Given the description of an element on the screen output the (x, y) to click on. 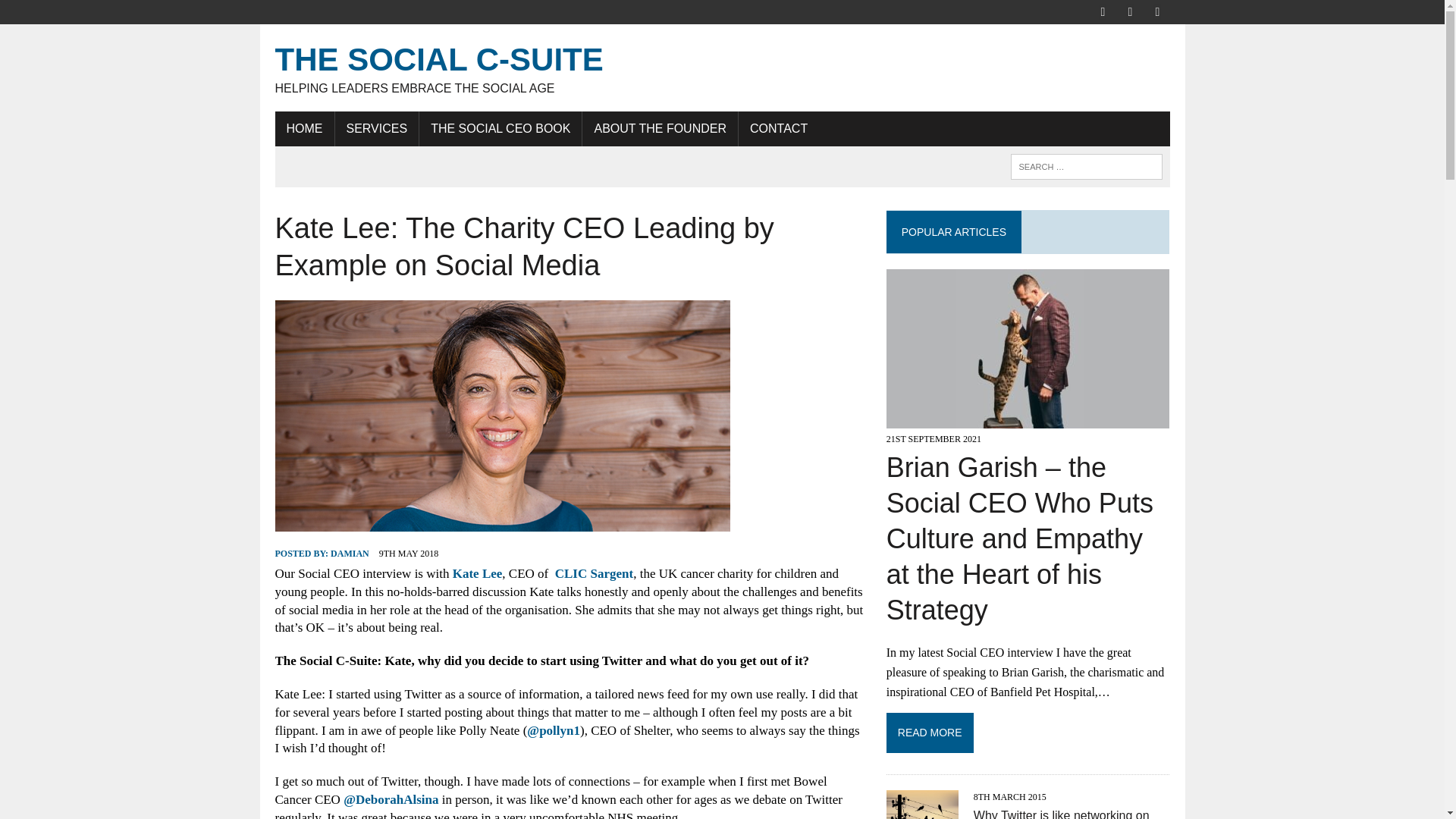
ABOUT THE FOUNDER (660, 128)
CONTACT (778, 128)
HOME (304, 128)
CLIC Sargent (593, 573)
The Social C-Suite (722, 67)
DAMIAN (349, 552)
THE SOCIAL CEO BOOK (722, 67)
SERVICES (499, 128)
Why Twitter is like networking on steroids (376, 128)
Search (1062, 814)
Kate Lee (75, 14)
